Given the description of an element on the screen output the (x, y) to click on. 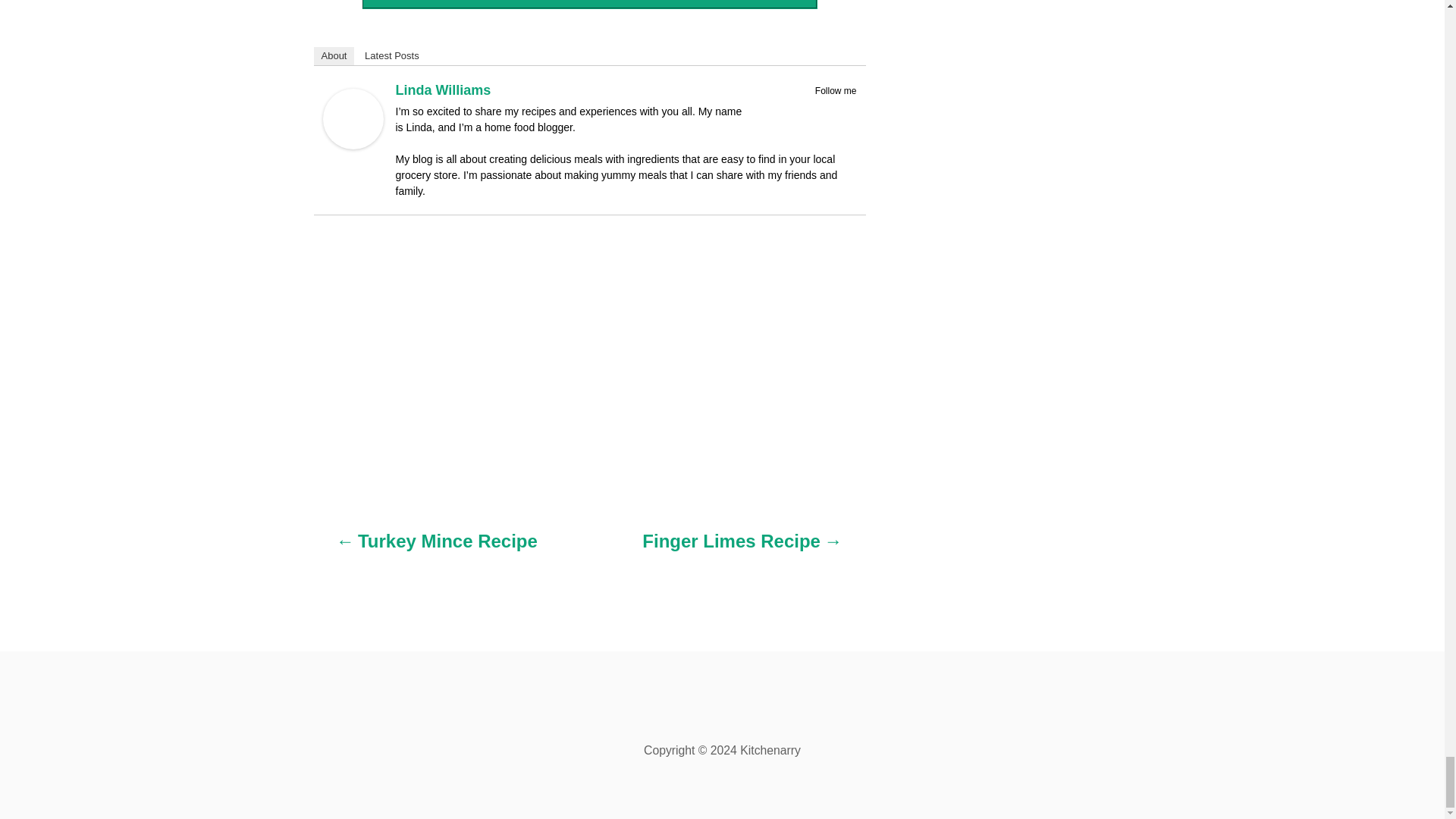
Pinterest (825, 108)
Facebook (806, 108)
Linda Williams (353, 144)
YouTube (846, 108)
